Given the description of an element on the screen output the (x, y) to click on. 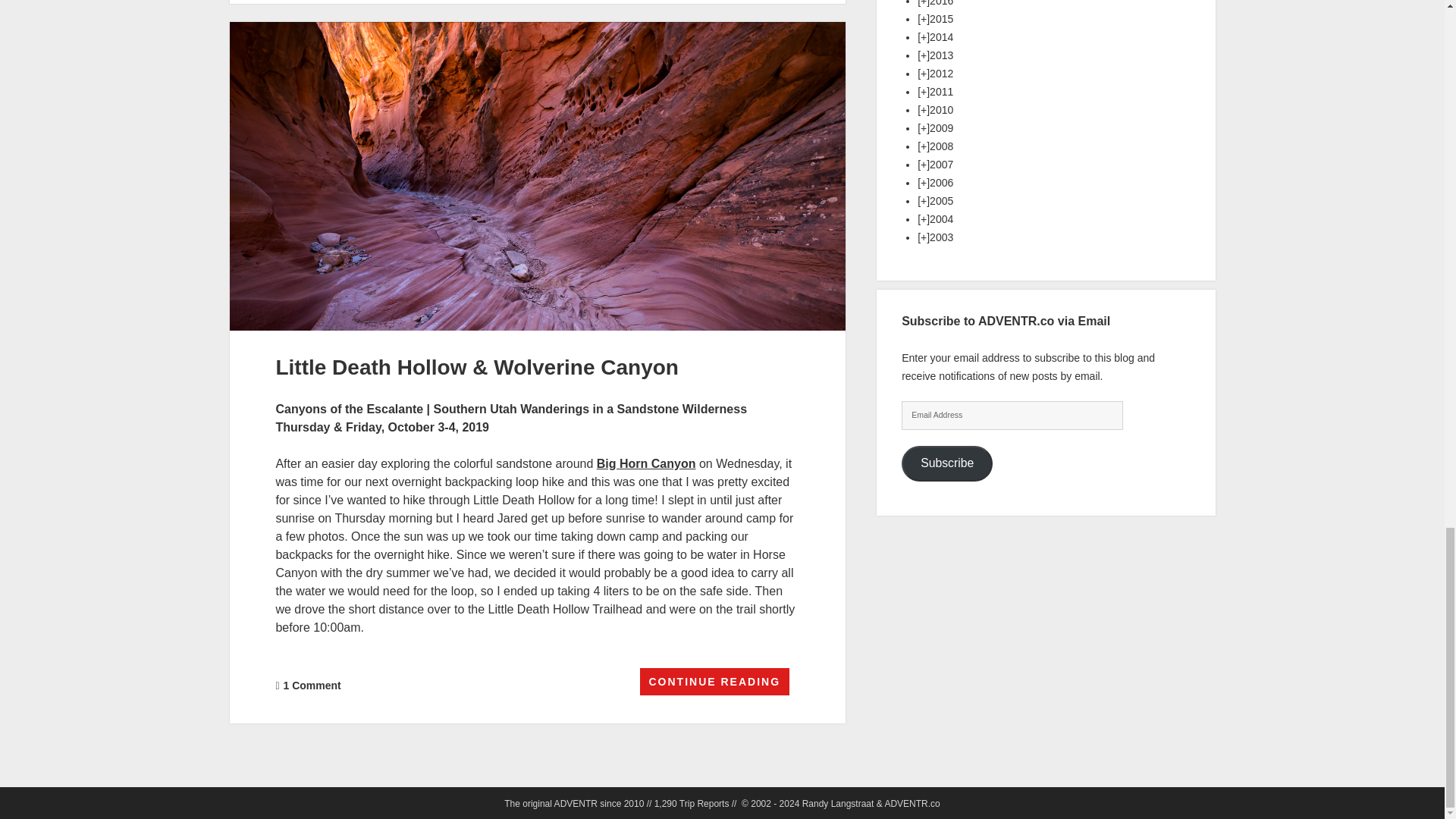
comment icon (277, 685)
